Given the description of an element on the screen output the (x, y) to click on. 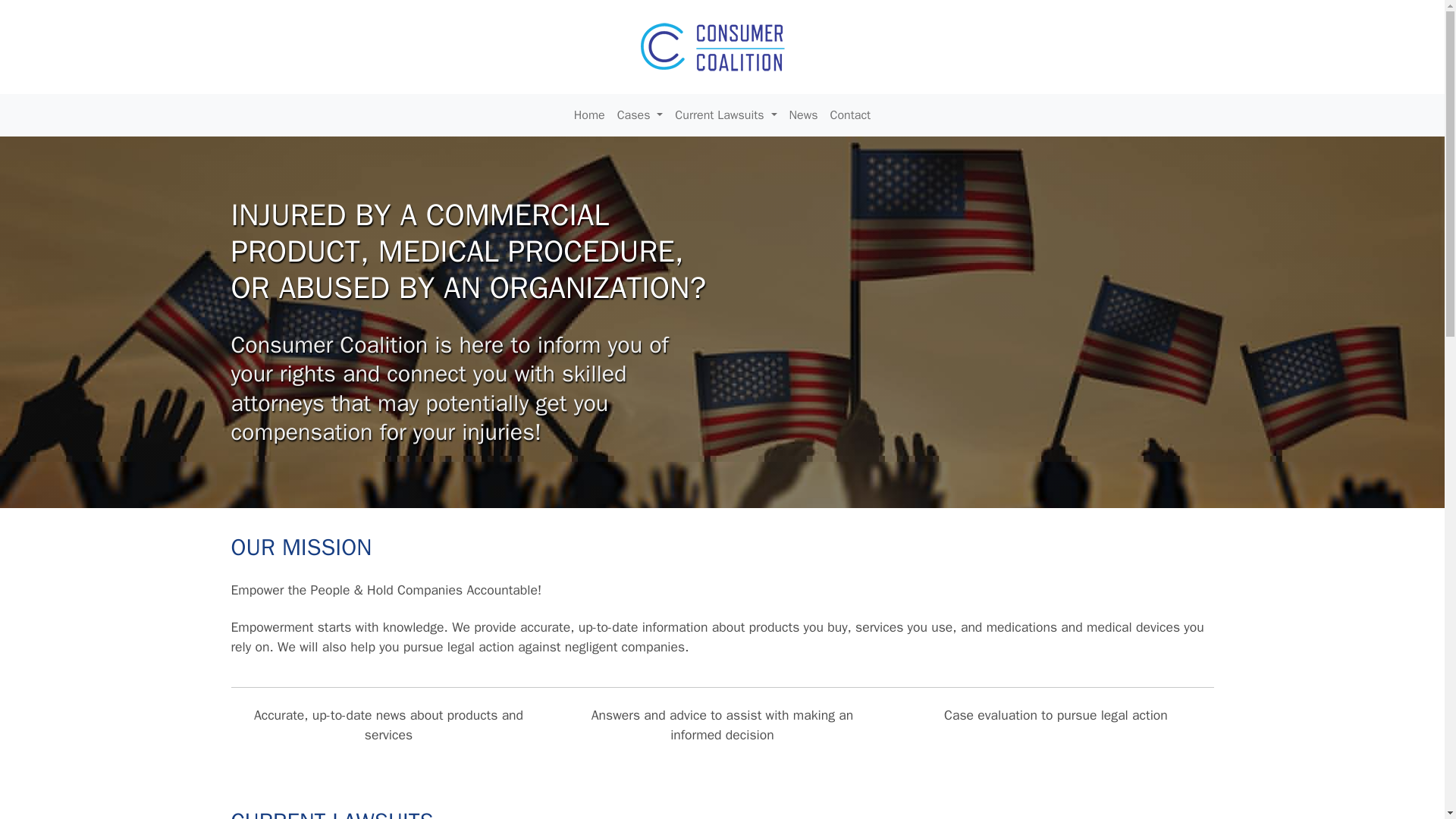
Home (589, 114)
Current Lawsuits (725, 114)
Cases (640, 114)
